Given the description of an element on the screen output the (x, y) to click on. 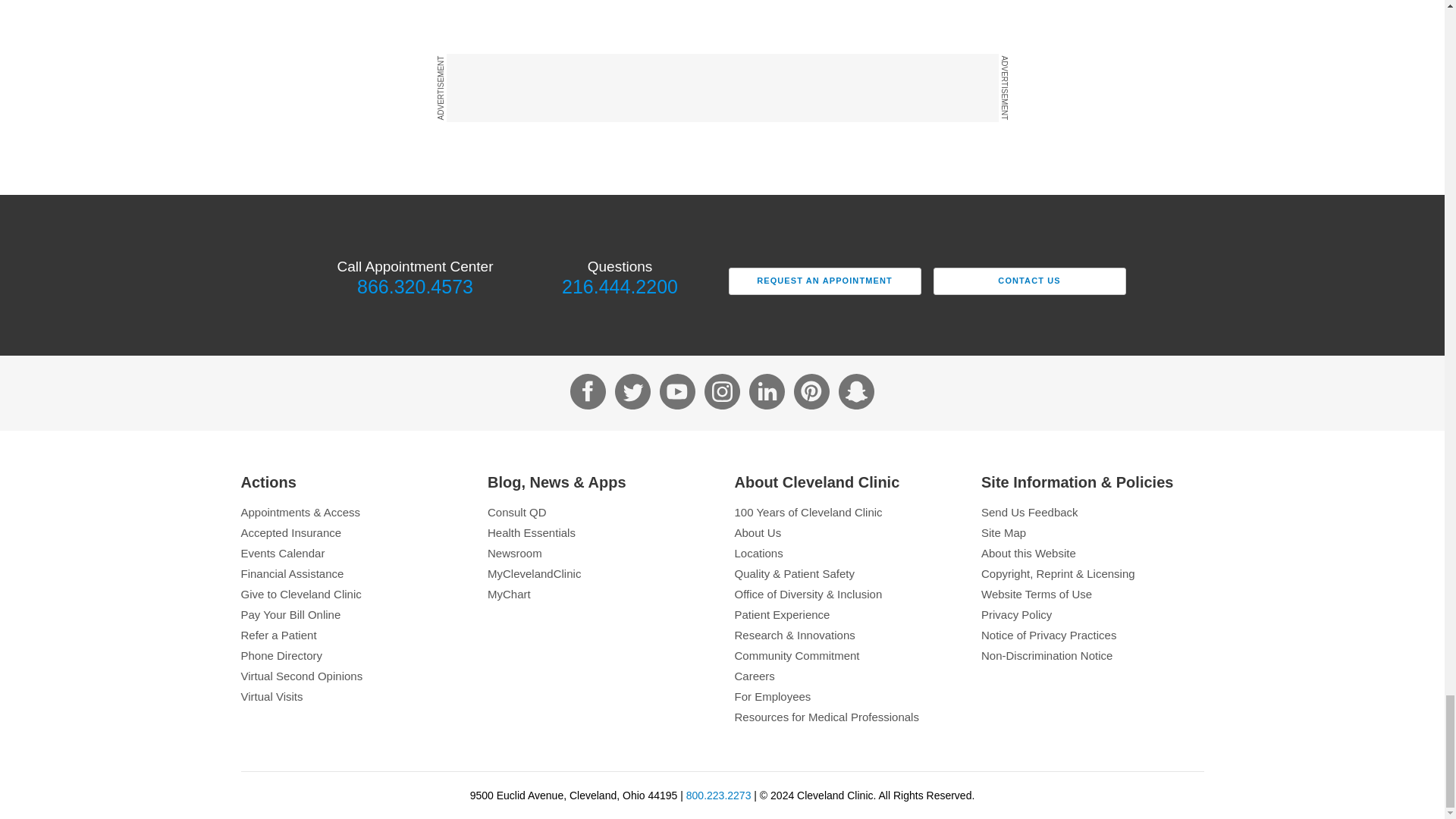
Send Us Feedback (1092, 511)
Health Essentials (598, 532)
866.320.4573 (414, 286)
216.444.2200 (619, 286)
Pay Your Bill (352, 614)
Phone Directory (352, 655)
CONTACT US (1029, 280)
REQUEST AN APPOINTMENT (824, 280)
Newsroom (598, 552)
Consult QD (598, 511)
Accepted Insurance (352, 532)
Appointments (352, 511)
Careers (844, 675)
